Given the description of an element on the screen output the (x, y) to click on. 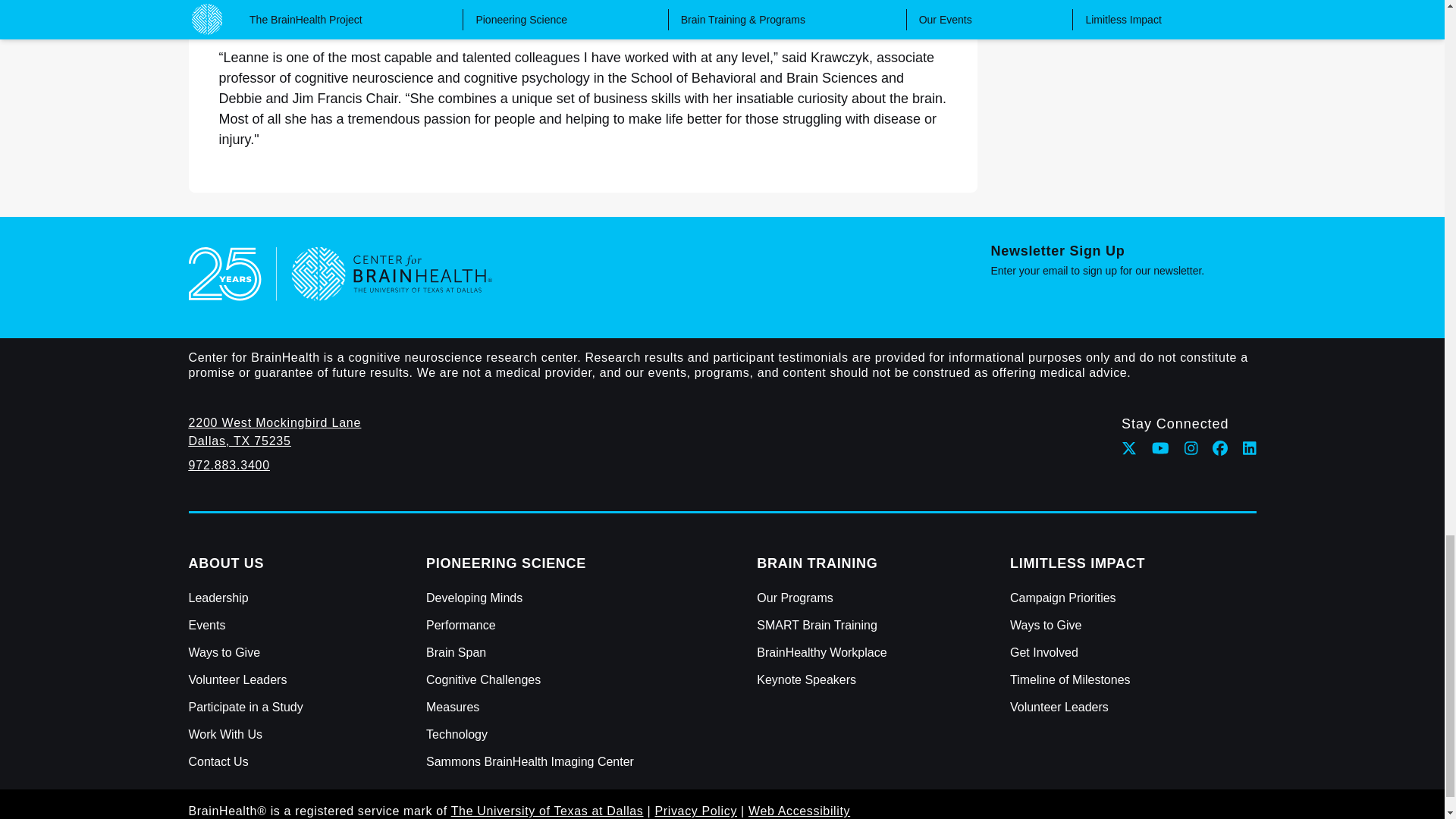
Follow Center for BrainHealth on instagram (1191, 447)
Follow Center for BrainHealth on facebook (1219, 447)
Follow Center for BrainHealth on twitter (1129, 447)
Follow Center for BrainHealth on youtube (1160, 447)
iframe (1122, 302)
Follow Center for BrainHealth on linkedin (1249, 447)
